Given the description of an element on the screen output the (x, y) to click on. 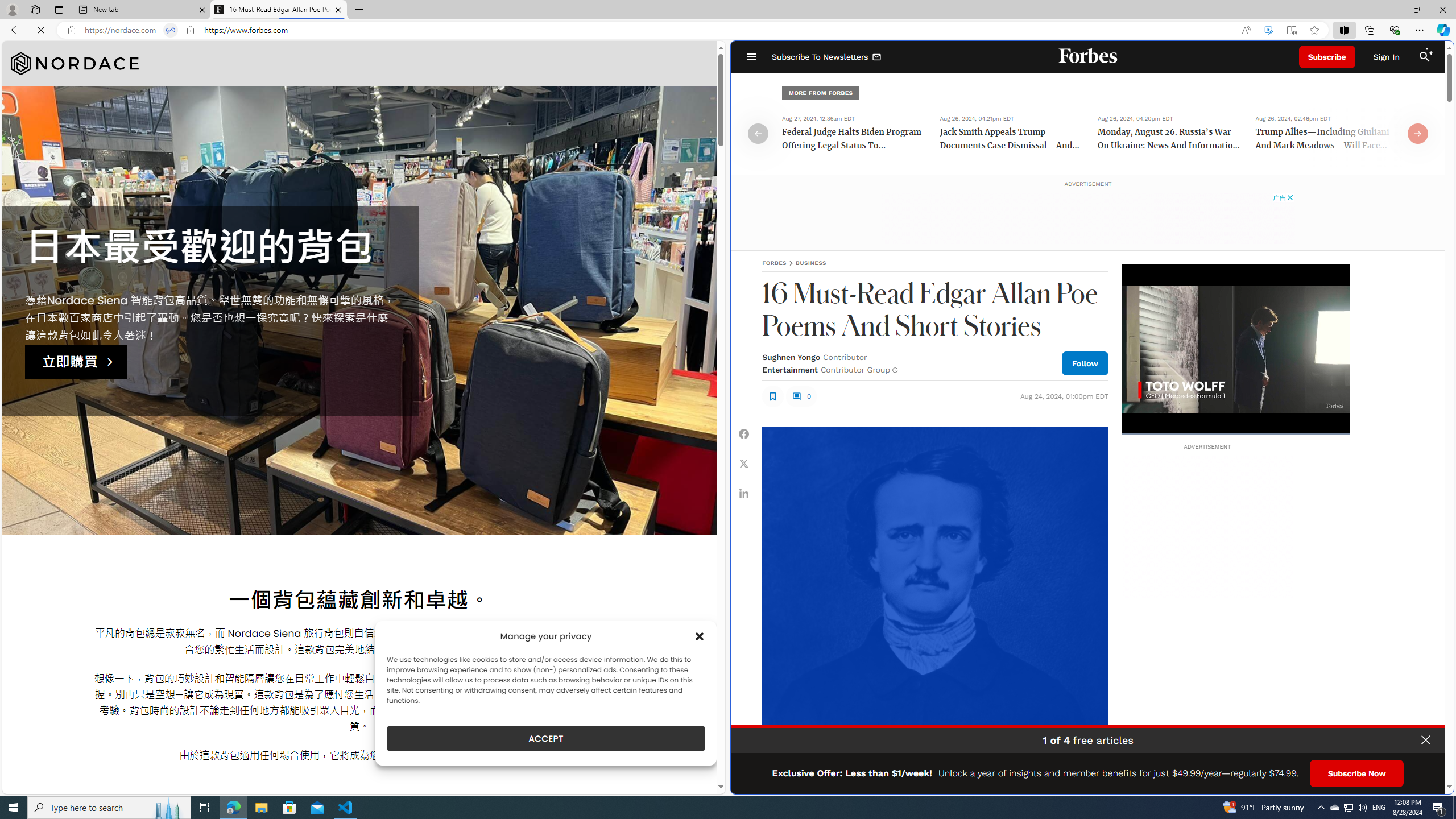
Class: search_svg__fs-icon search_svg__fs-icon--search (1424, 56)
Class: envelope_svg__fs-icon envelope_svg__fs-icon--envelope (877, 57)
Seek (1235, 433)
Forbes Logo (1088, 56)
Subscribe To Newsletters (826, 56)
Class: fs-icon fs-icon--info (894, 369)
Class: cmplz-close (699, 636)
Share Facebook (743, 434)
Sign In (1386, 56)
